Given the description of an element on the screen output the (x, y) to click on. 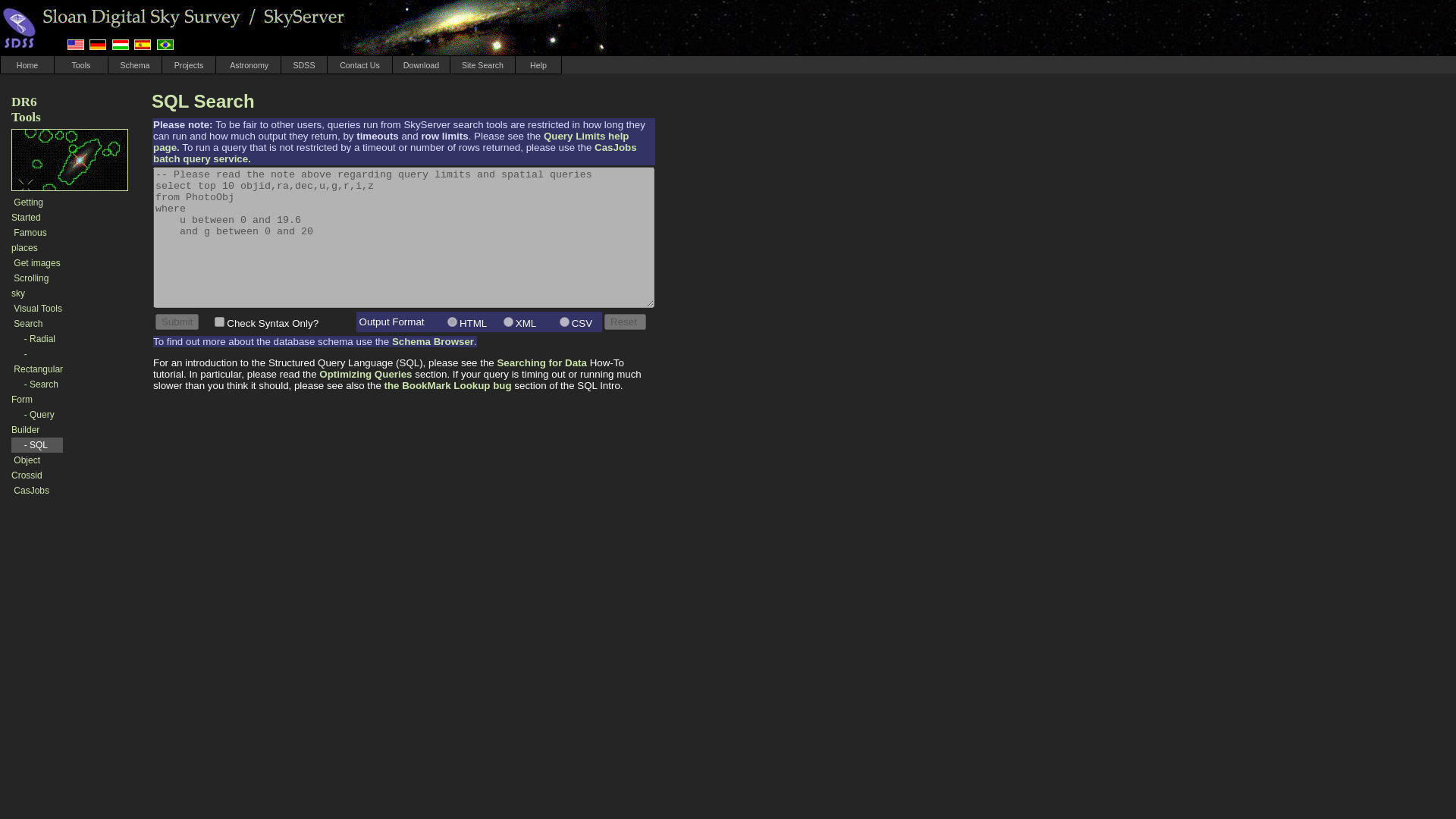
  Contact Us   (359, 64)
CasJobs batch query service. (394, 152)
html (451, 321)
Reset  (625, 321)
Optimizing Queries (365, 374)
Search Form (34, 391)
Object Crossid (26, 467)
csv (564, 321)
Query Limits help page. (390, 141)
xml (508, 321)
